Given the description of an element on the screen output the (x, y) to click on. 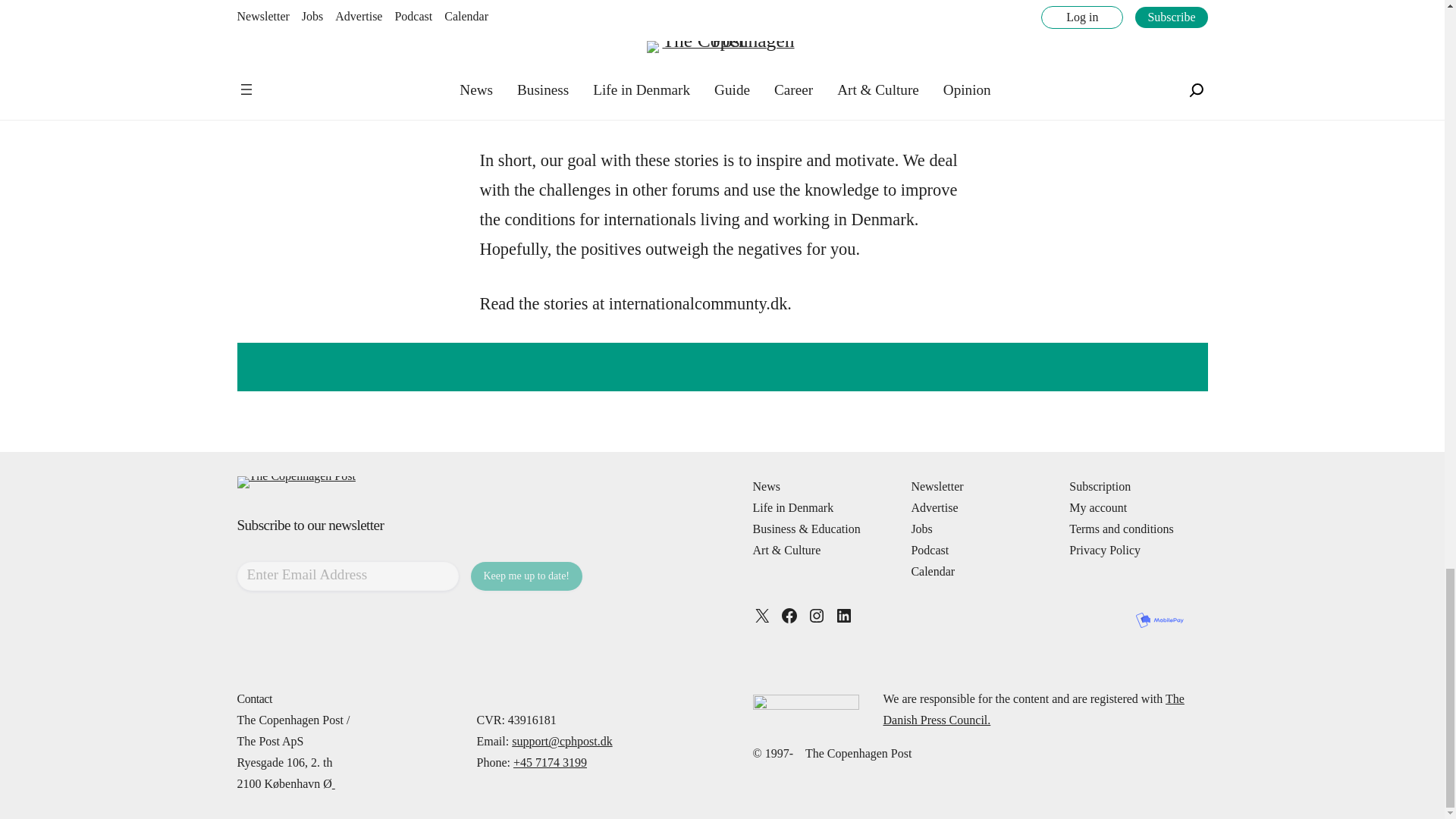
Keep me up to date! (526, 575)
